Given the description of an element on the screen output the (x, y) to click on. 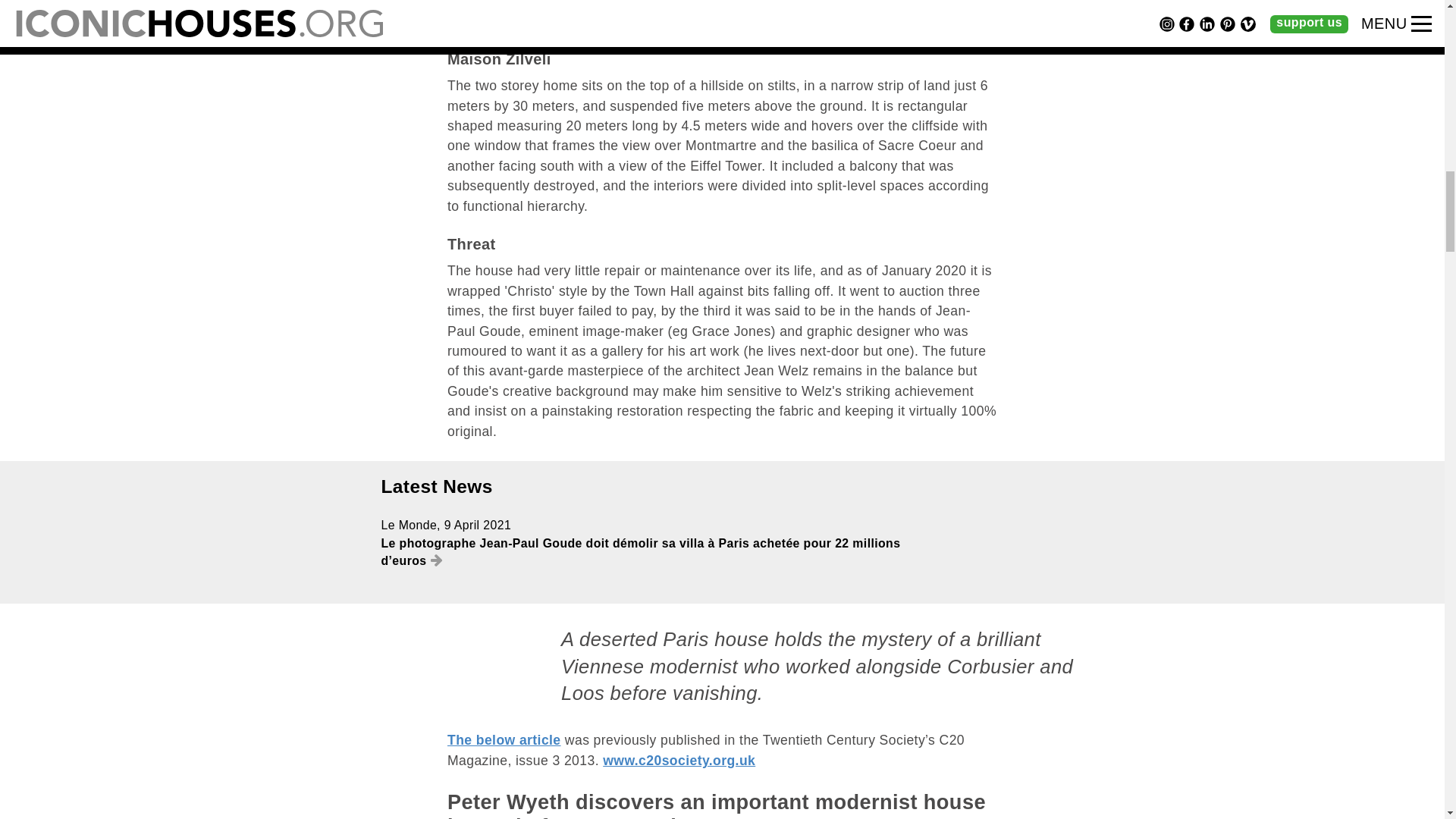
The below article (503, 739)
www.c20society.org.uk (678, 760)
